Given the description of an element on the screen output the (x, y) to click on. 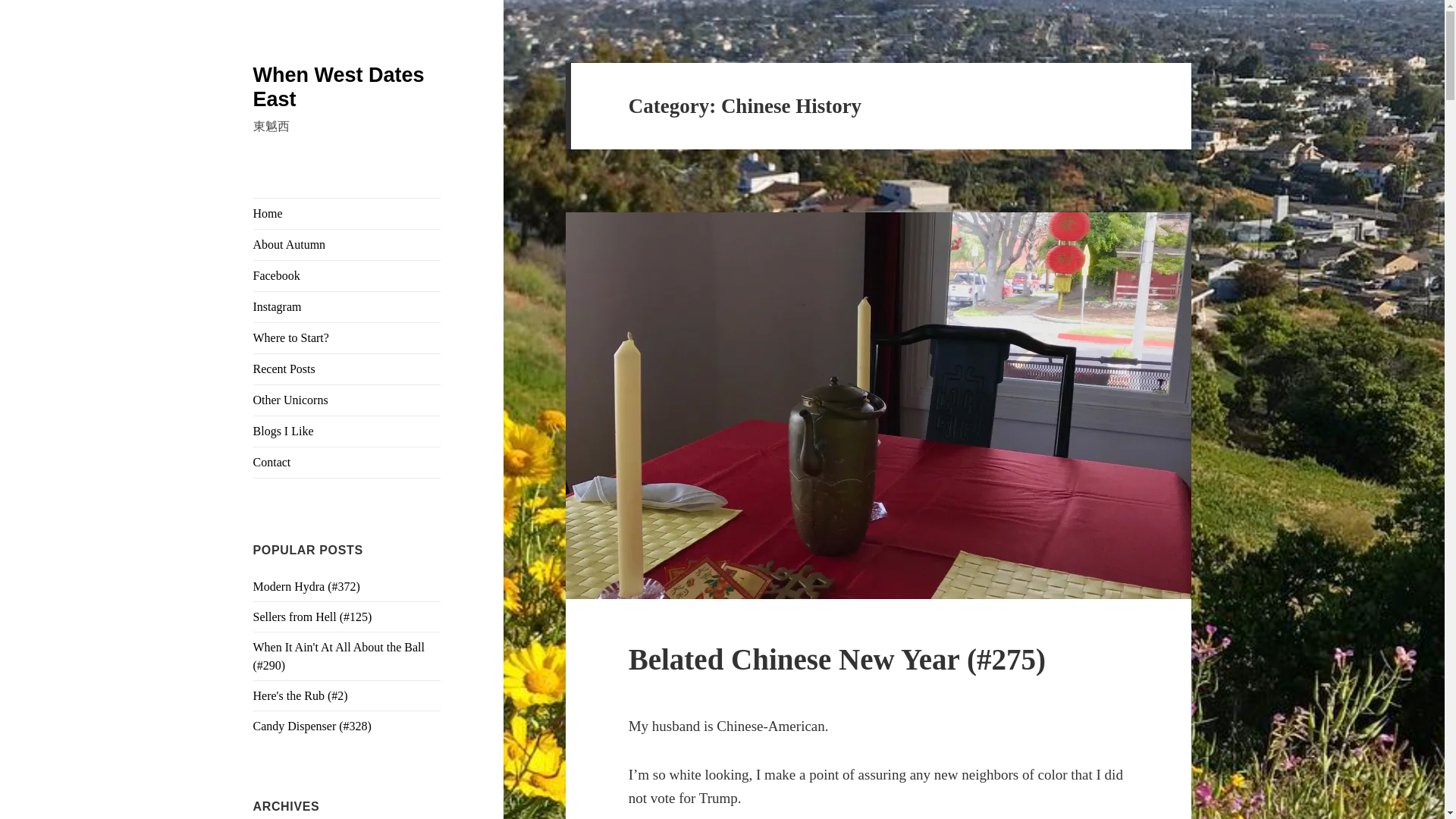
About Autumn (347, 245)
Contact (347, 462)
When West Dates East (339, 86)
Where to Start? (347, 337)
Blogs I Like (347, 431)
Instagram (347, 306)
Other Unicorns (347, 399)
Recent Posts (347, 368)
Home (347, 214)
Facebook (347, 276)
